Given the description of an element on the screen output the (x, y) to click on. 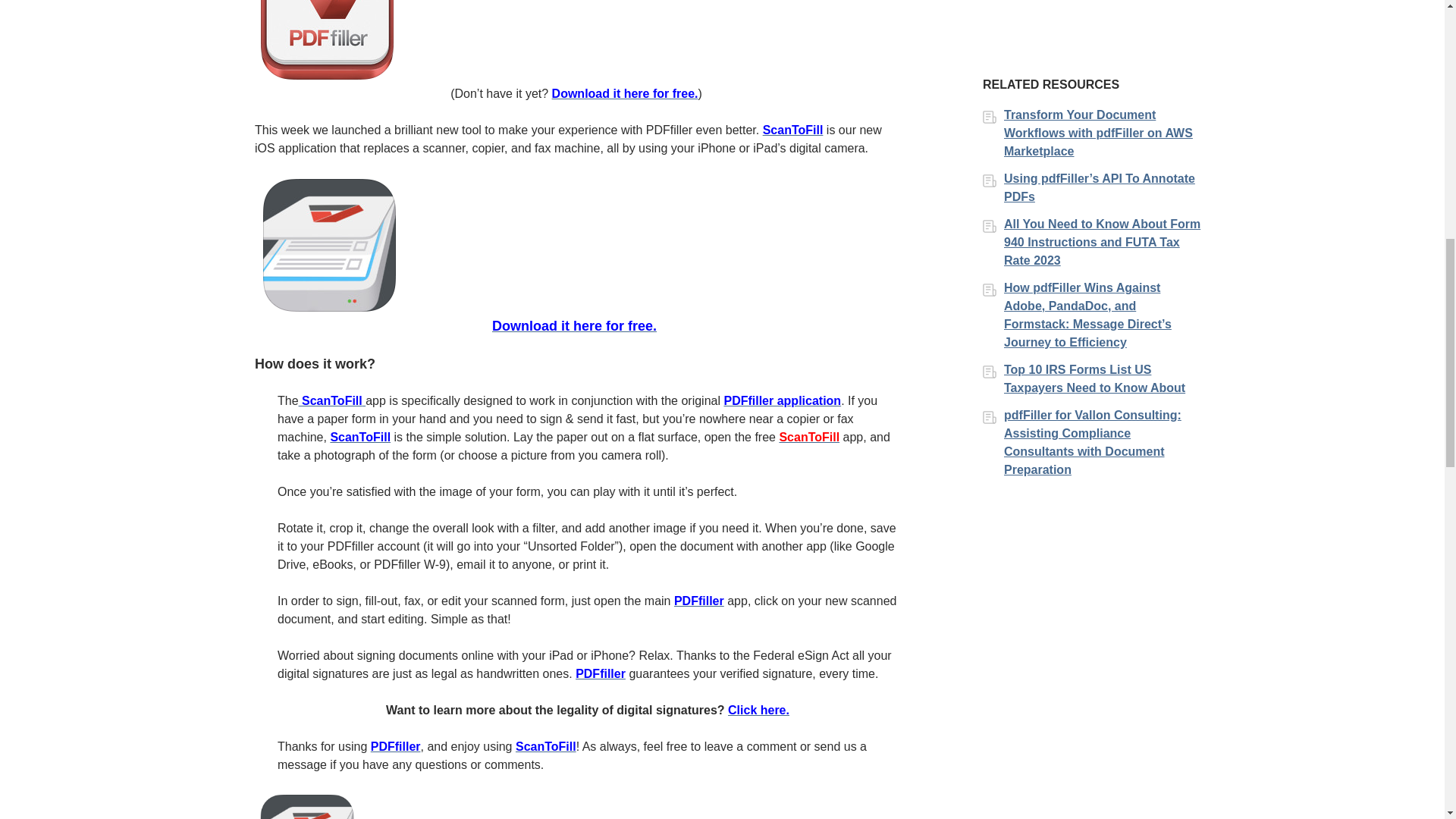
ScanToFill App (809, 436)
Download it here for free. (574, 325)
ScanToFill App (331, 246)
Download it here for free. (624, 92)
PDFfiller App (326, 42)
ScanToFill App (793, 129)
ScanToFill (809, 436)
PDFfiller.com (600, 673)
ScanToFill App (574, 325)
PDFfiller (600, 673)
ScanToFill (545, 746)
ScanToFill (332, 400)
PDFfiller.com (698, 600)
PDFfiller App (782, 400)
PDFfiller application (782, 400)
